Given the description of an element on the screen output the (x, y) to click on. 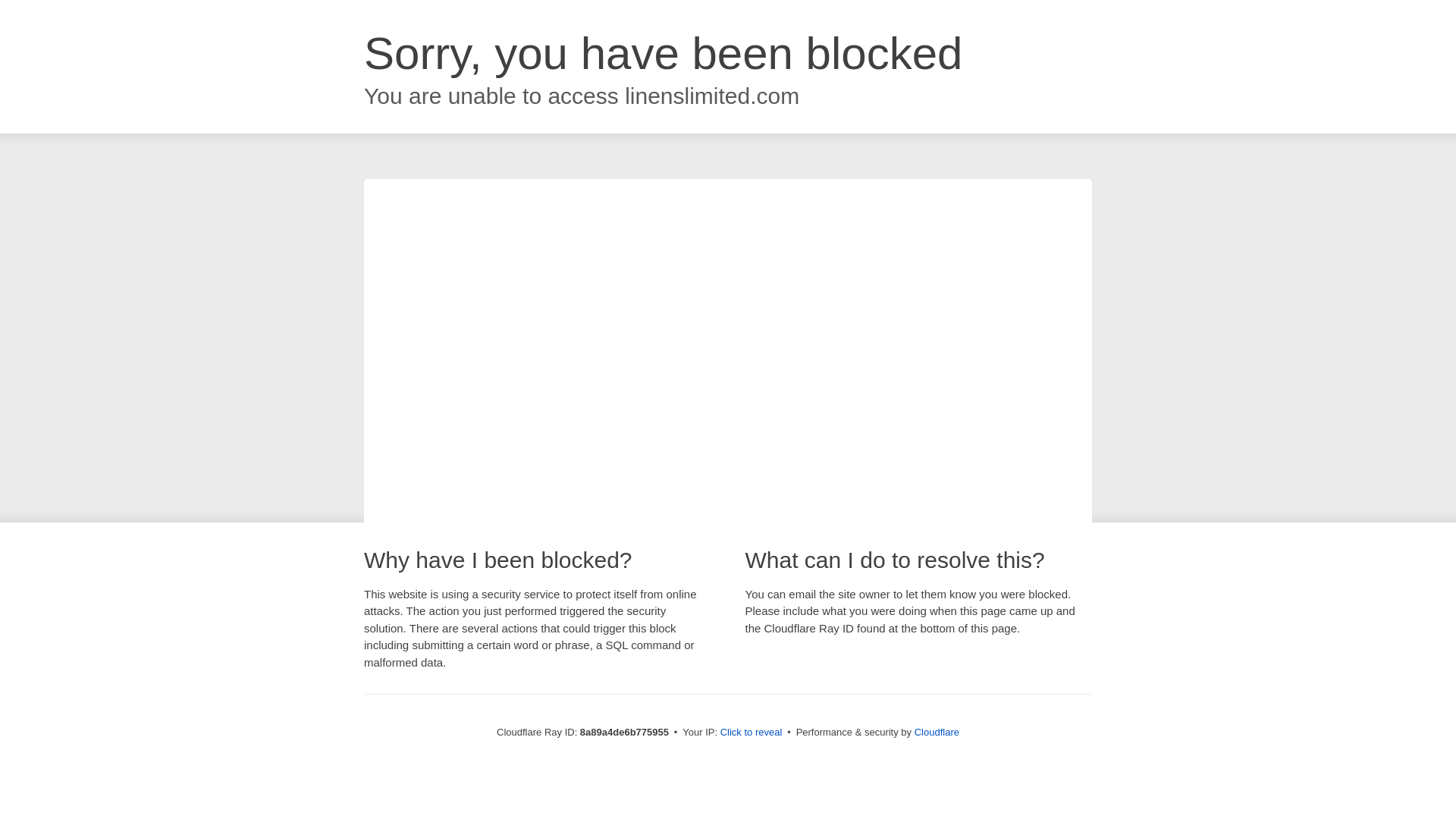
Cloudflare (936, 731)
Click to reveal (751, 732)
